Given the description of an element on the screen output the (x, y) to click on. 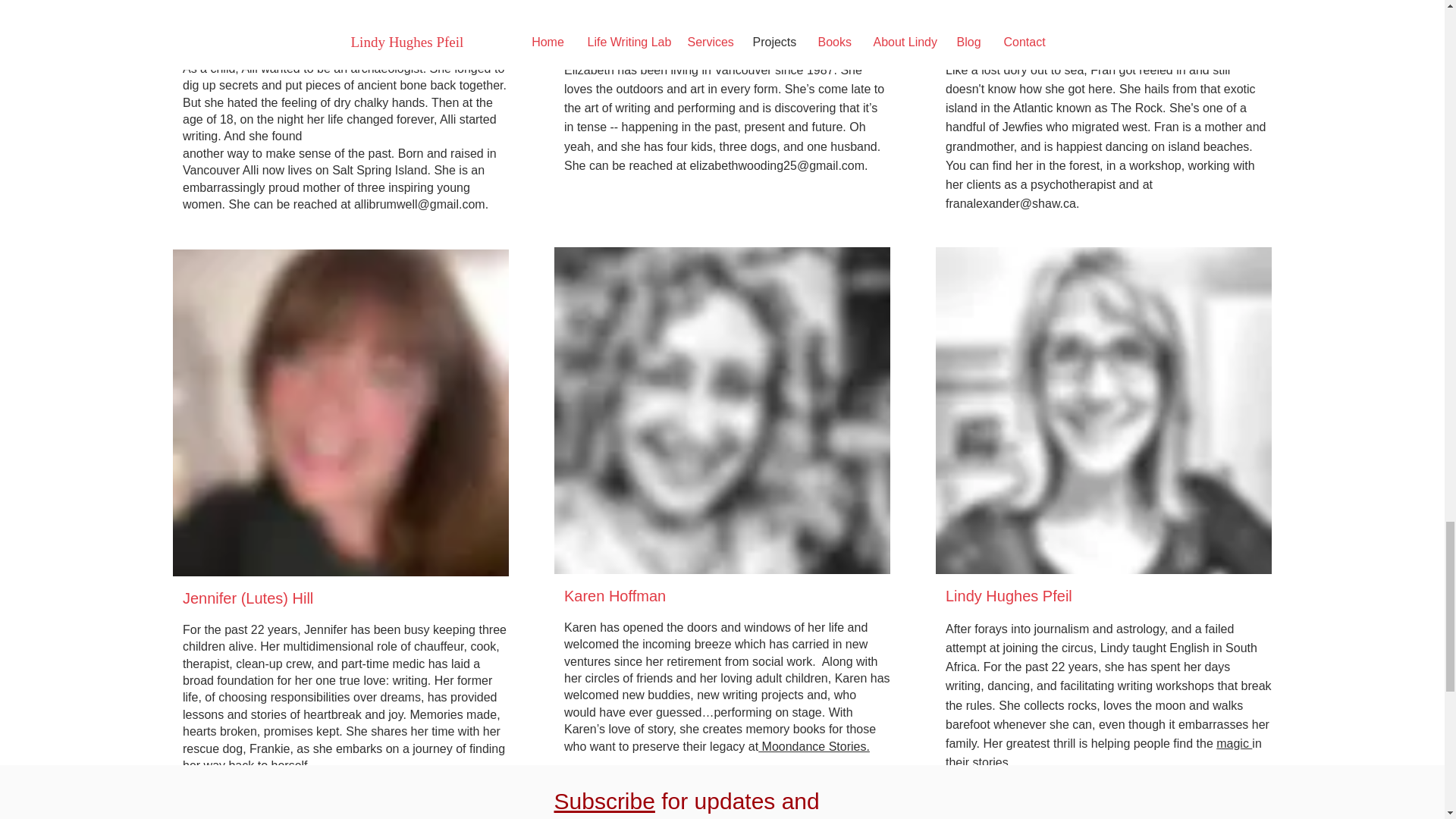
magic (1233, 743)
Subscribe (603, 801)
Moondance Stories. (813, 746)
